Given the description of an element on the screen output the (x, y) to click on. 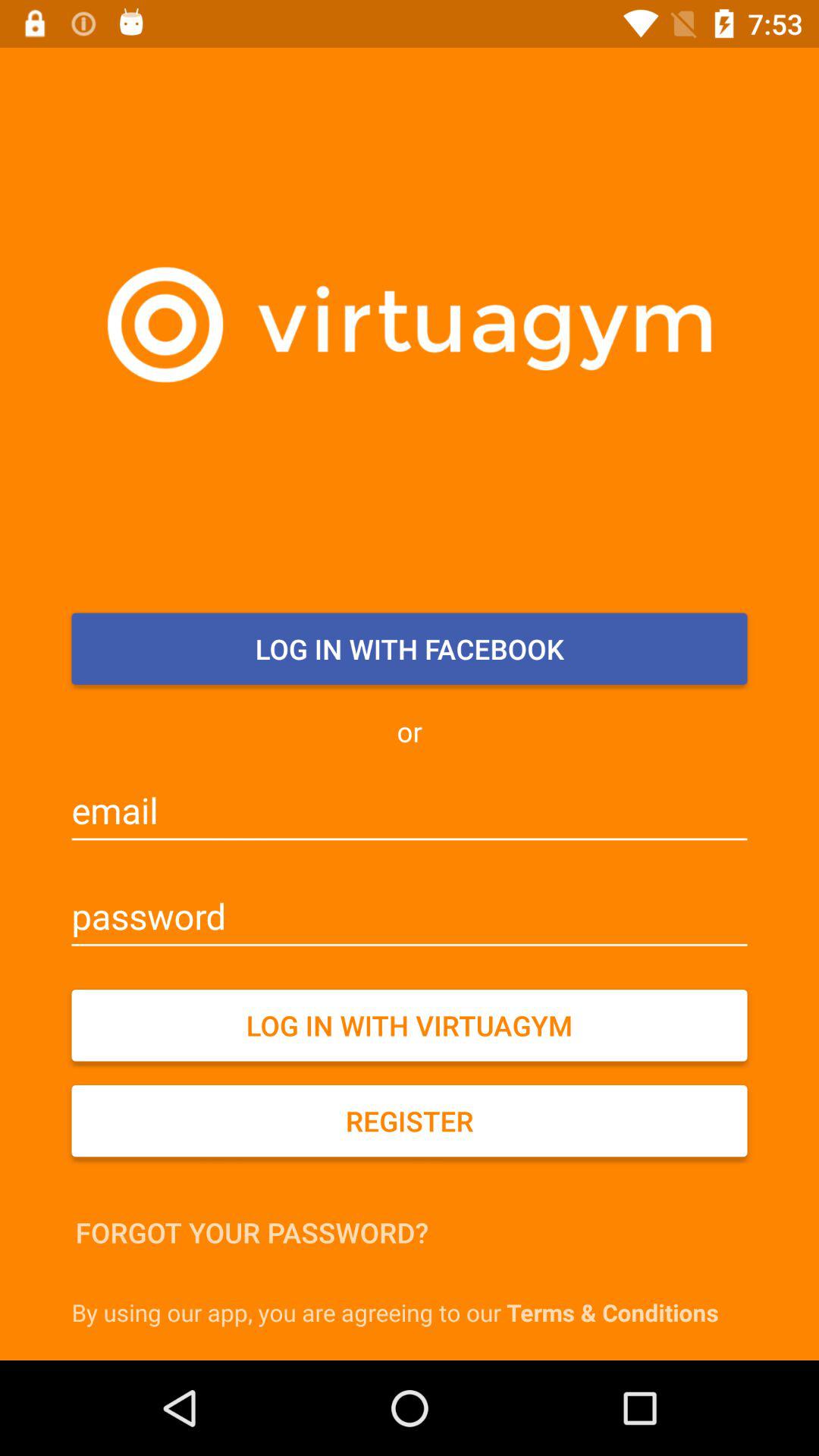
swipe until register (409, 1120)
